Given the description of an element on the screen output the (x, y) to click on. 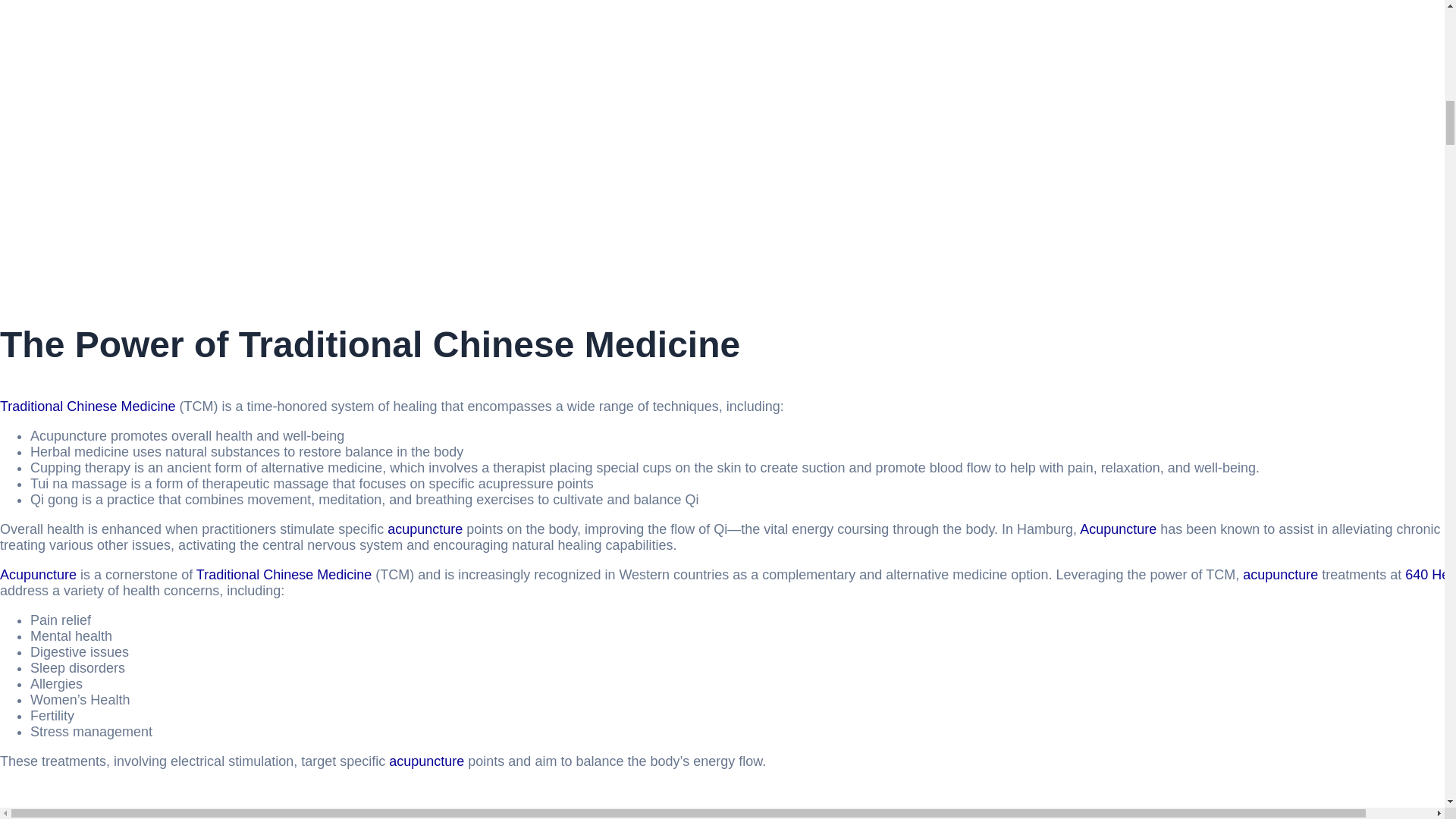
Learn more about TCM (87, 406)
Health Therapies (1430, 574)
Learn more about TCM (283, 574)
